Given the description of an element on the screen output the (x, y) to click on. 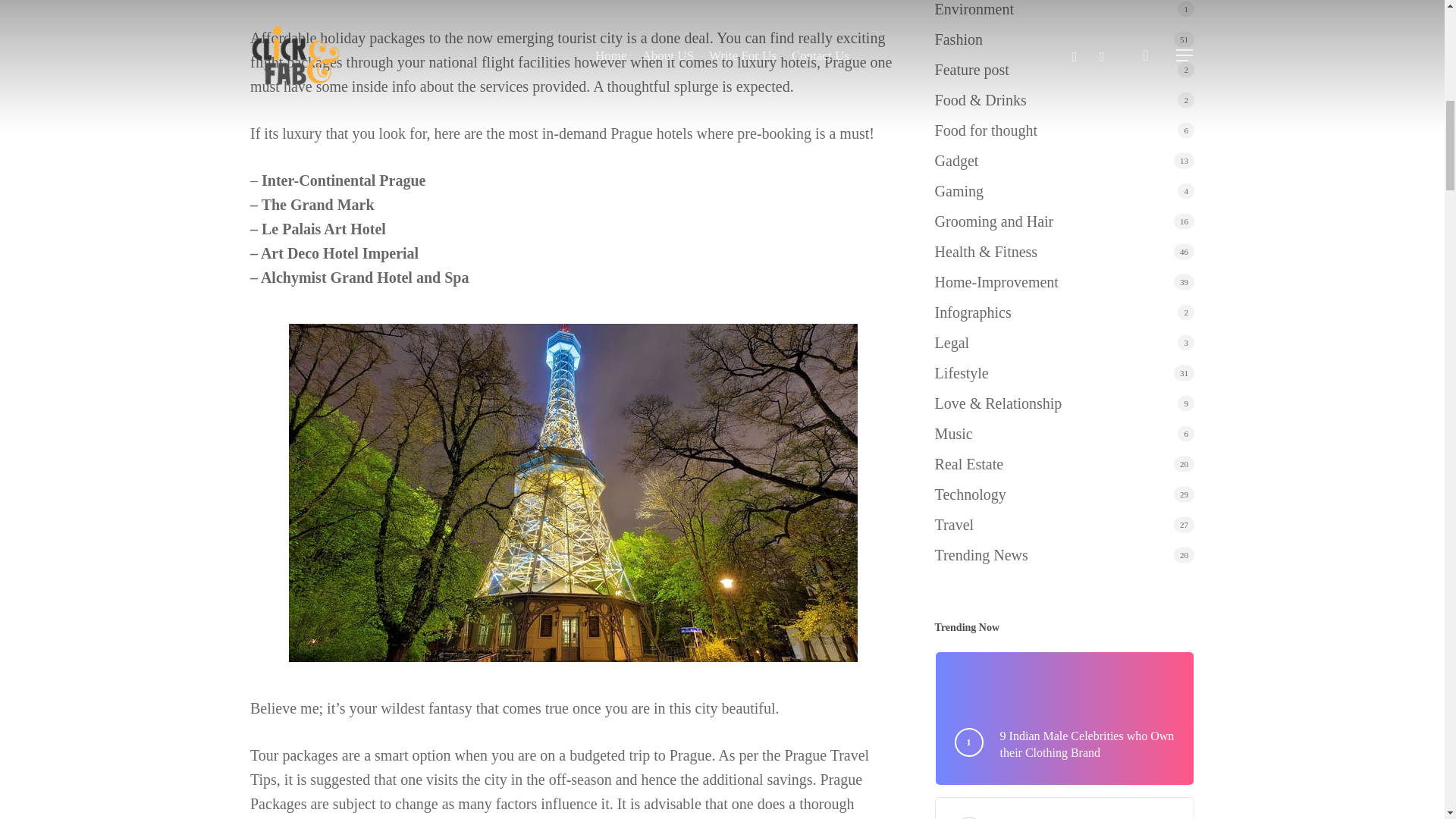
Fashion (1063, 39)
Food for thought (1063, 129)
Environment (1063, 10)
Feature post (1063, 69)
Gadget (1063, 160)
